Given the description of an element on the screen output the (x, y) to click on. 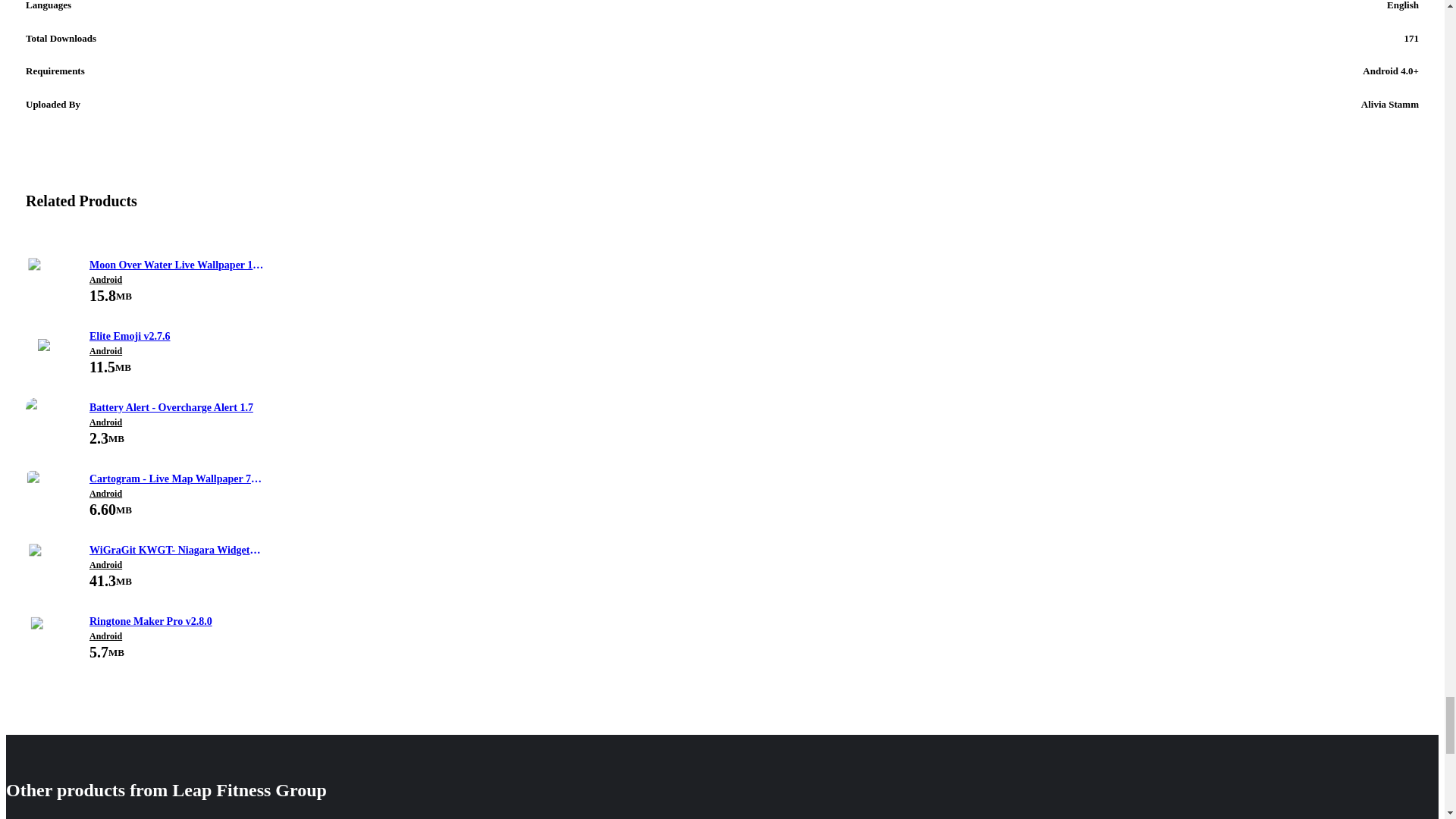
Cartogram - Live Map Wallpaper 7.3.2 (175, 478)
Android (175, 350)
Android (175, 635)
Android (175, 564)
WiGraGit KWGT- Niagara Widgets 2.1.0 (175, 550)
Ringtone Maker Pro v2.8.0 (175, 621)
Android (175, 492)
Battery Alert - Overcharge Alert 1.7 (175, 407)
Android (175, 421)
Moon Over Water Live Wallpaper 1.28 (175, 265)
Elite Emoji v2.7.6 (175, 336)
Android (175, 279)
